Given the description of an element on the screen output the (x, y) to click on. 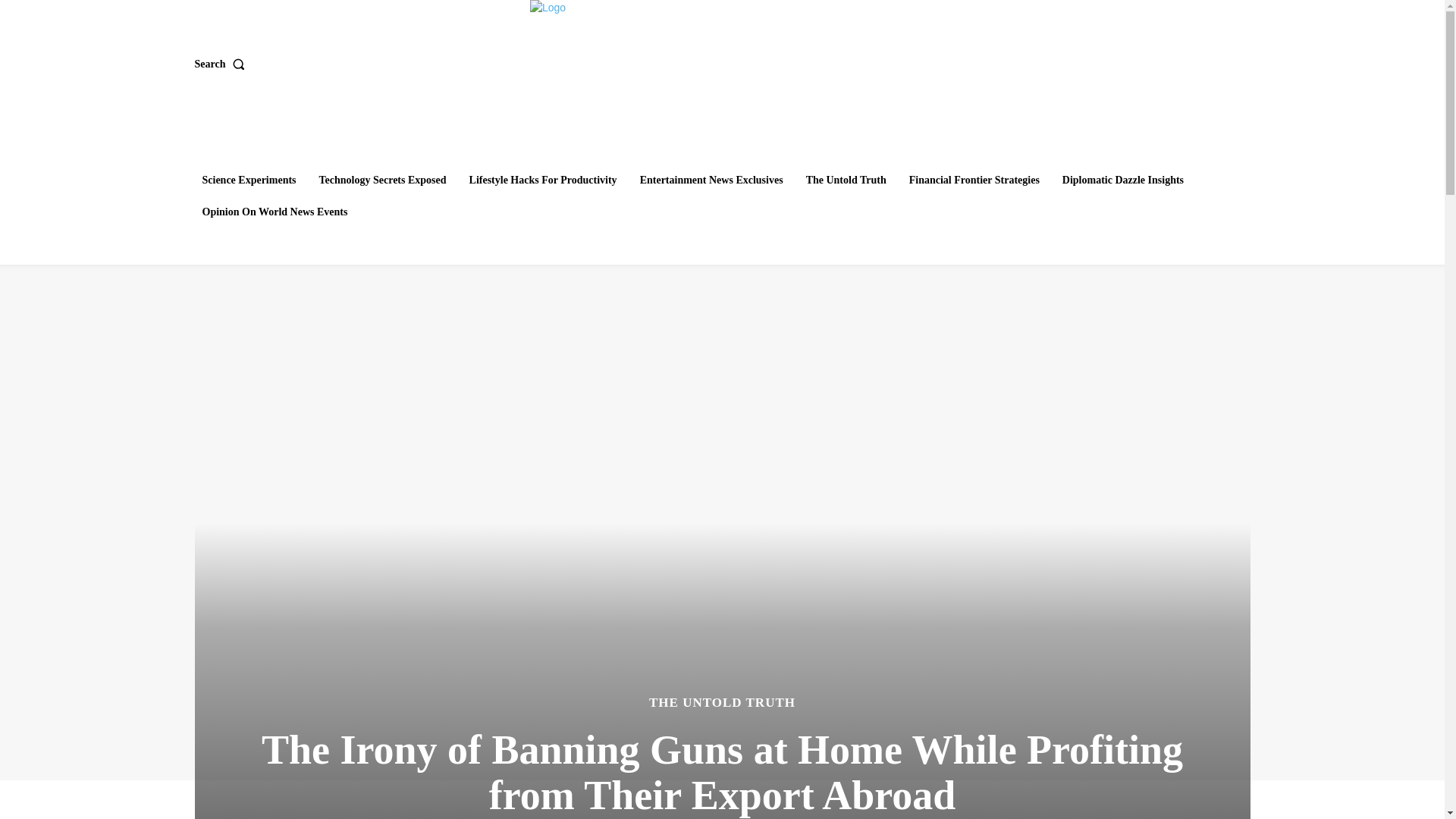
Financial Frontier Strategies (973, 180)
Opinion On World News Events (274, 212)
Entertainment News Exclusives (710, 180)
Diplomatic Dazzle Insights (1122, 180)
Science Experiments (247, 180)
Technology Secrets Exposed (382, 180)
Search (221, 64)
The Untold Truth (845, 180)
Lifestyle Hacks For Productivity (542, 180)
THE UNTOLD TRUTH (721, 702)
